Given the description of an element on the screen output the (x, y) to click on. 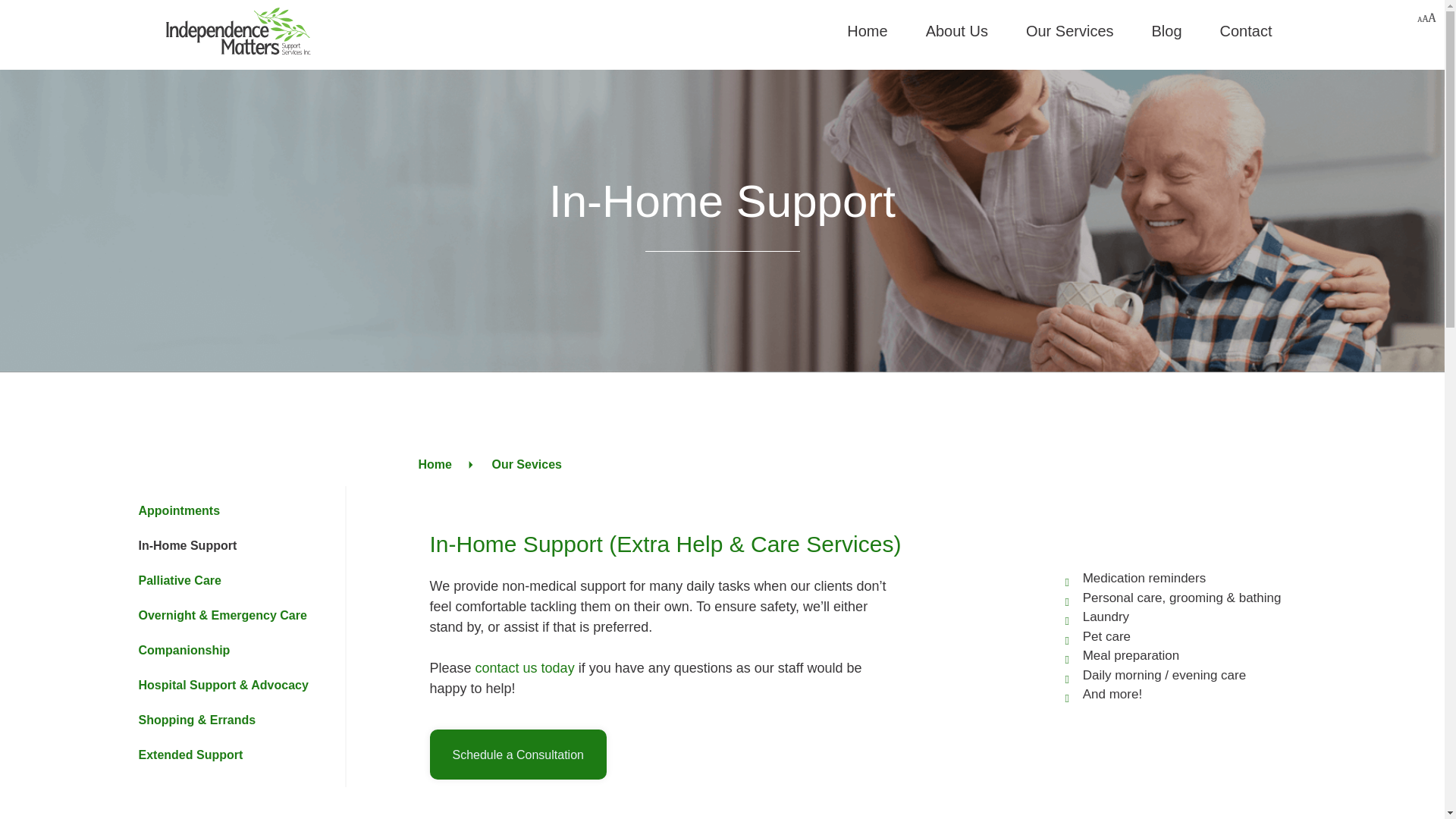
Extended Support (189, 755)
Companionship (183, 650)
Palliative Care (178, 580)
Blog (1166, 31)
In-Home Support (186, 545)
Home (866, 31)
About Us (957, 31)
Appointments (178, 510)
Our Services (1069, 31)
Contact (1246, 31)
